Given the description of an element on the screen output the (x, y) to click on. 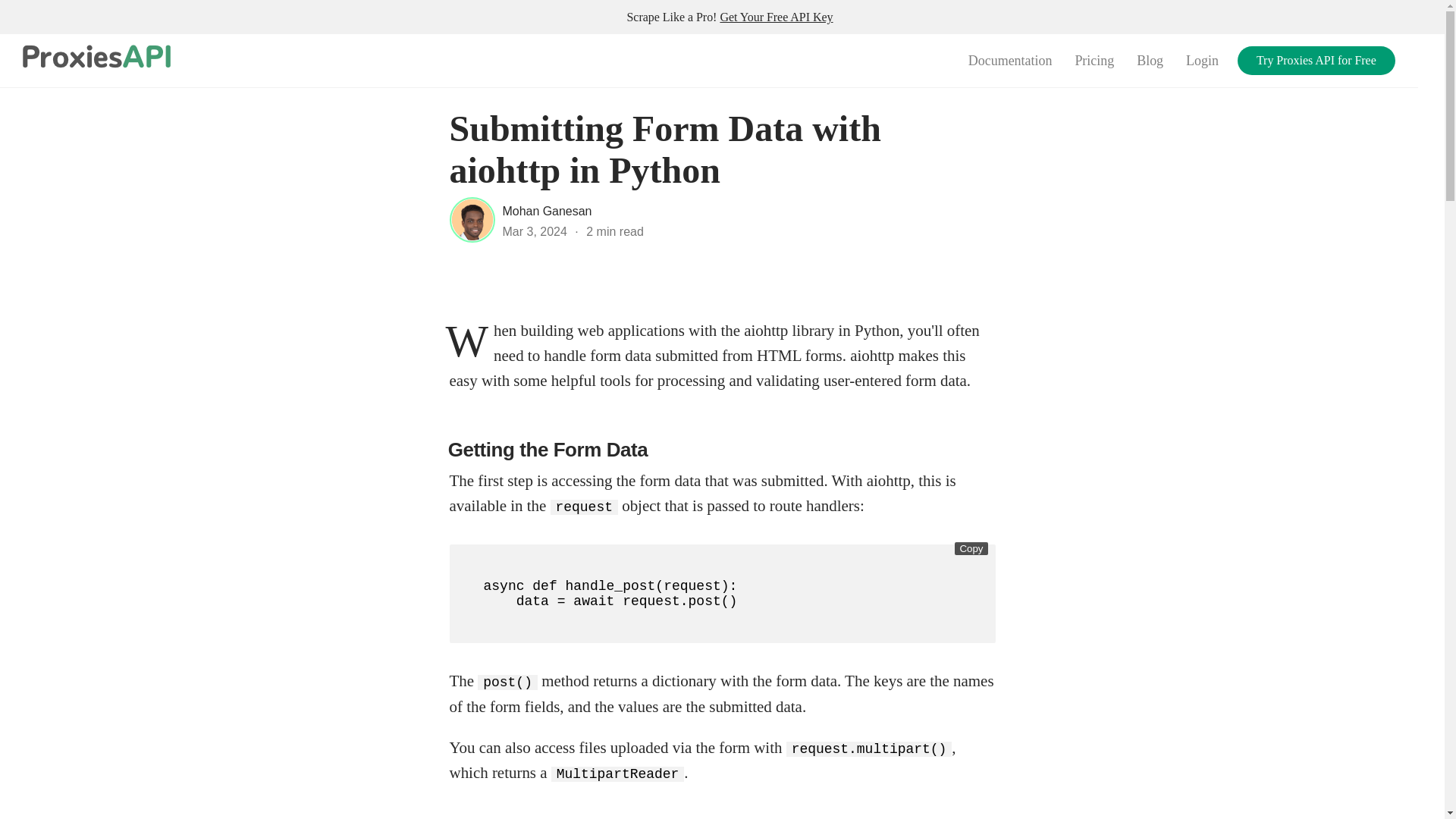
Try Proxies API for Free (1315, 60)
Pricing (1094, 60)
Login (1202, 60)
Get Your Free API Key (775, 16)
Mohan Ganesan (546, 210)
Blog (1149, 60)
Documentation (1010, 60)
Copy (971, 548)
